Given the description of an element on the screen output the (x, y) to click on. 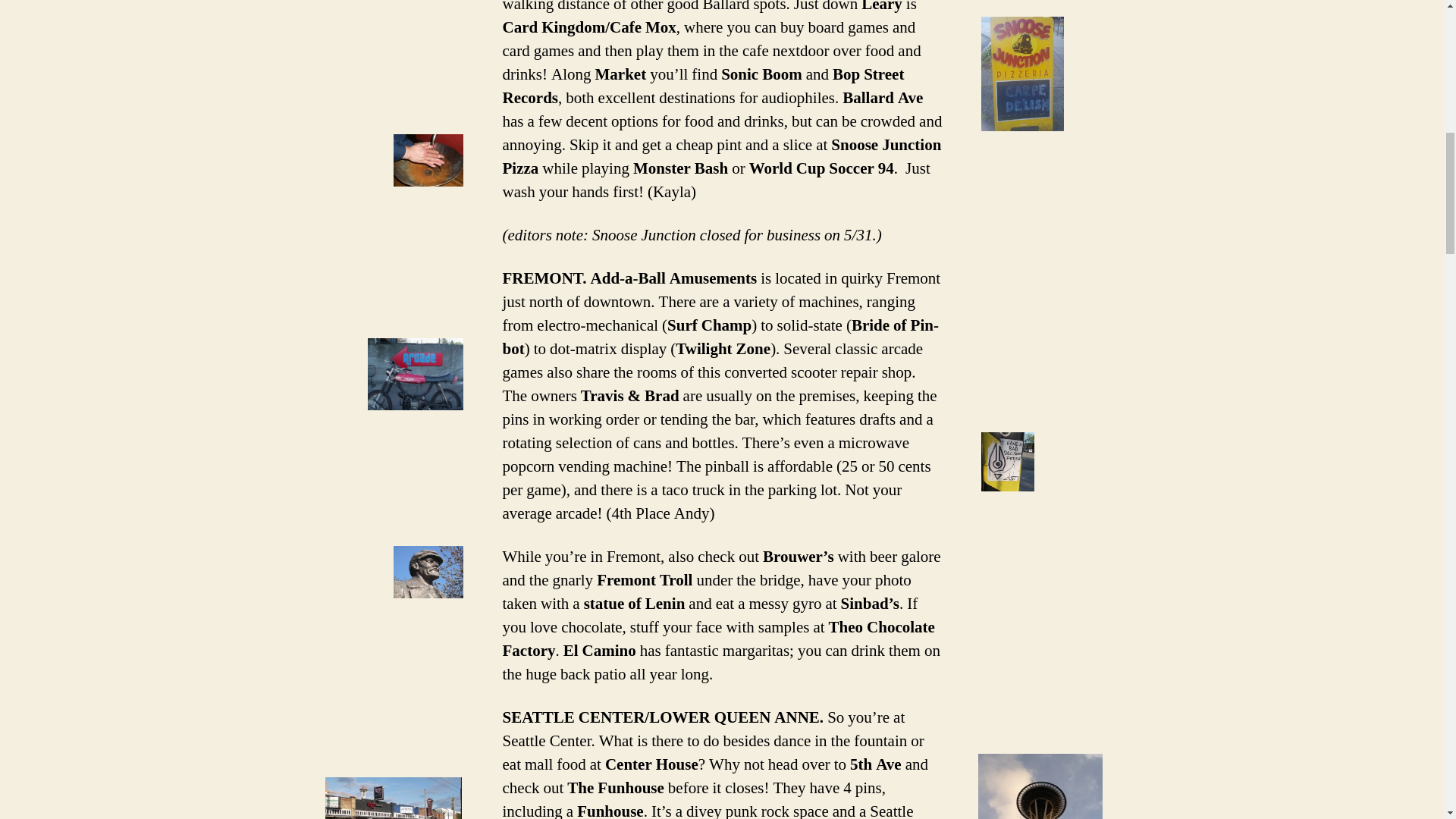
Add-a-Ball Amusements (415, 374)
Wash your hands! (428, 160)
Fremont Street Art  (1007, 461)
Lenin Statue (428, 572)
Queen Anne Ave (392, 798)
Space Needle (1040, 786)
